Given the description of an element on the screen output the (x, y) to click on. 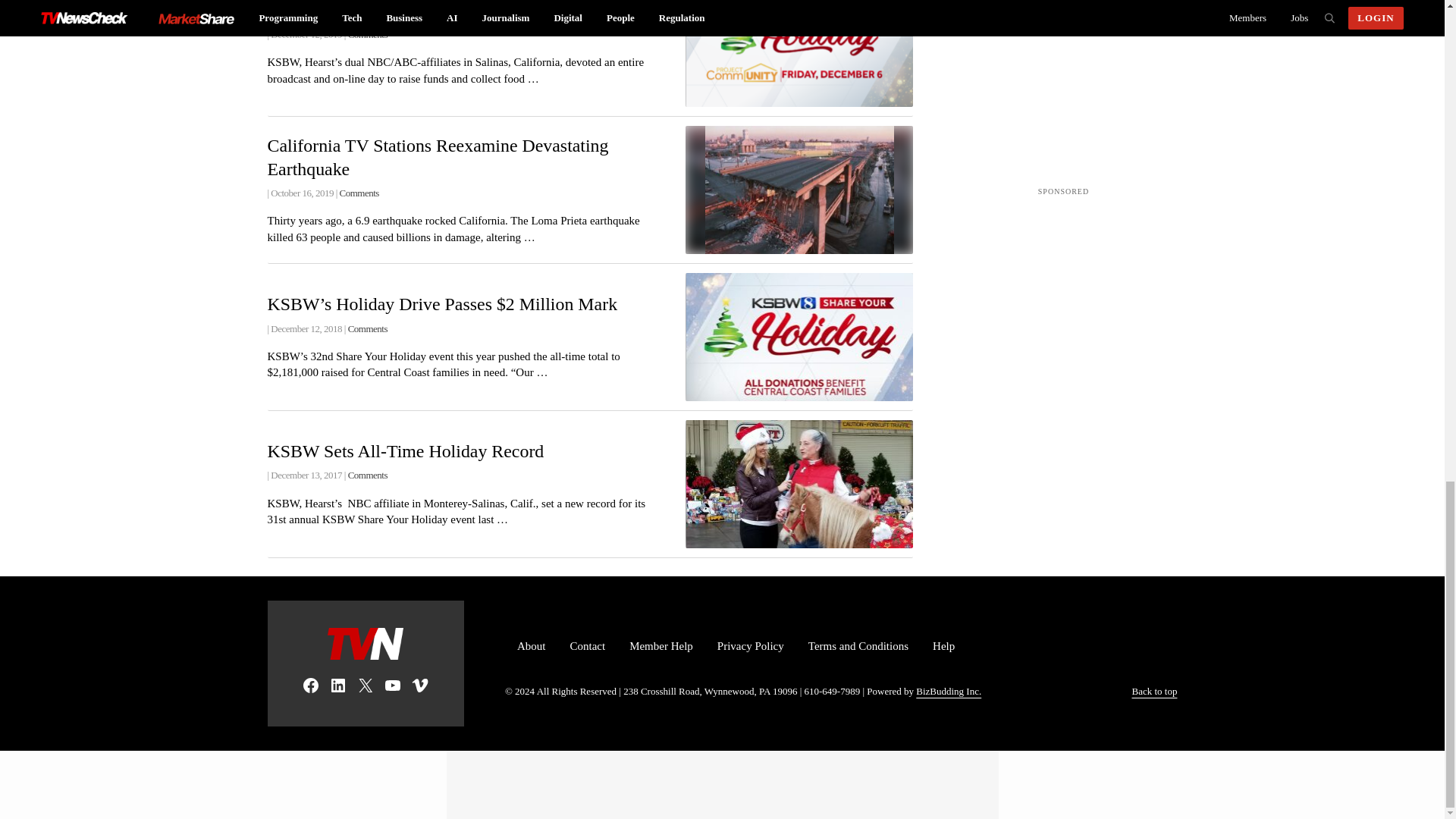
3rd party ad content (1063, 74)
